Given the description of an element on the screen output the (x, y) to click on. 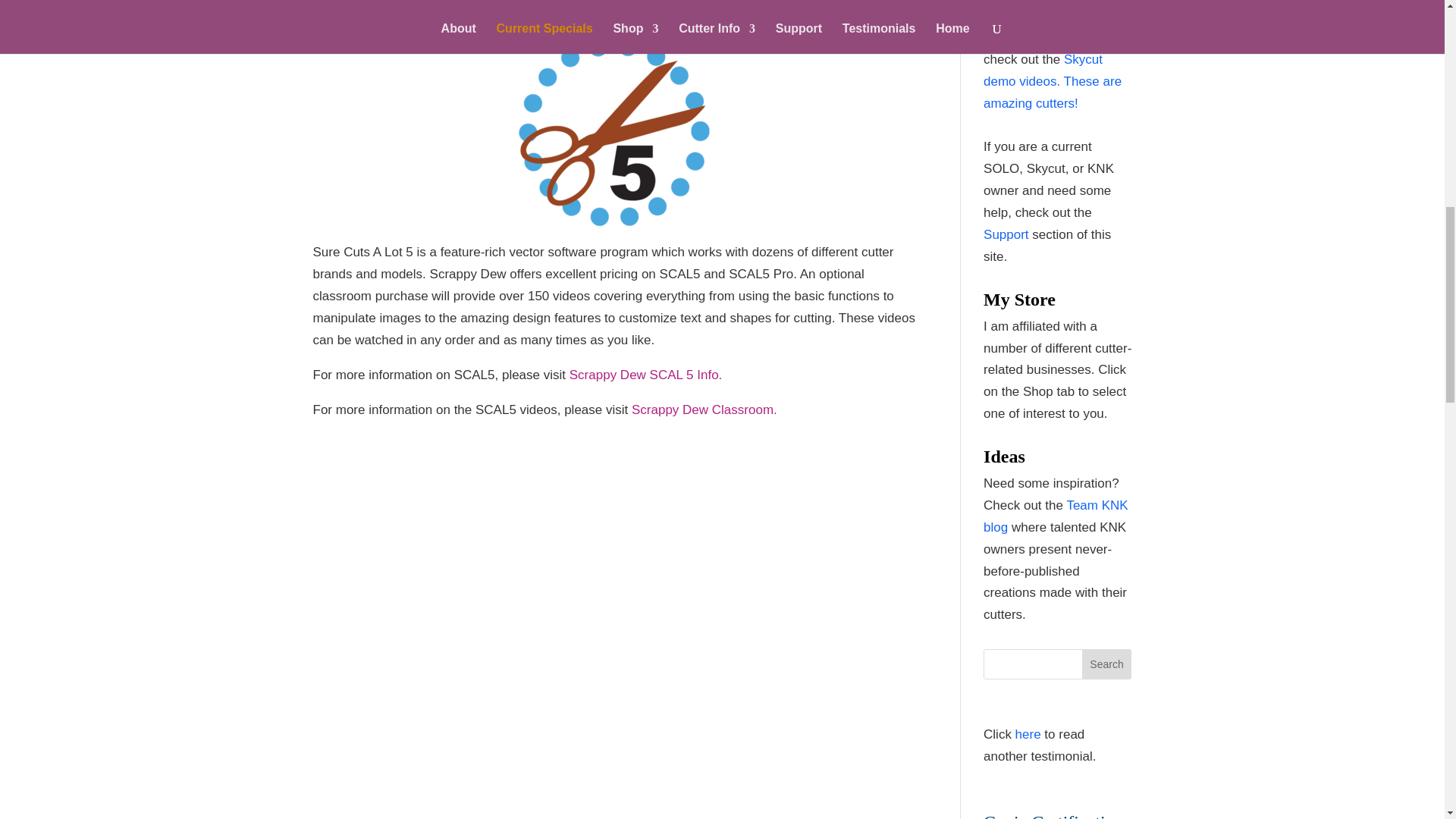
Search (1106, 664)
